Given the description of an element on the screen output the (x, y) to click on. 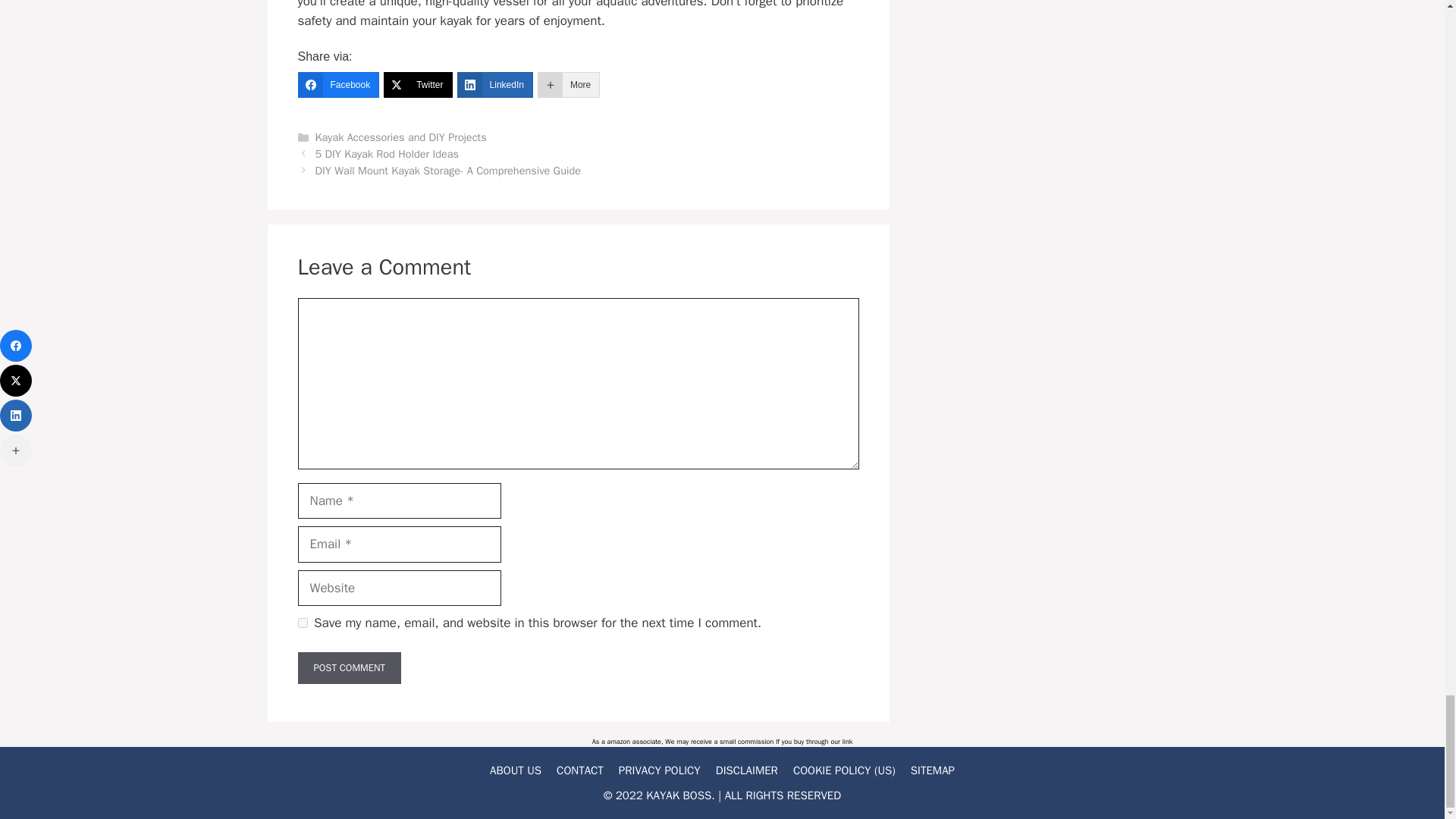
yes (302, 623)
Post Comment (349, 667)
